Given the description of an element on the screen output the (x, y) to click on. 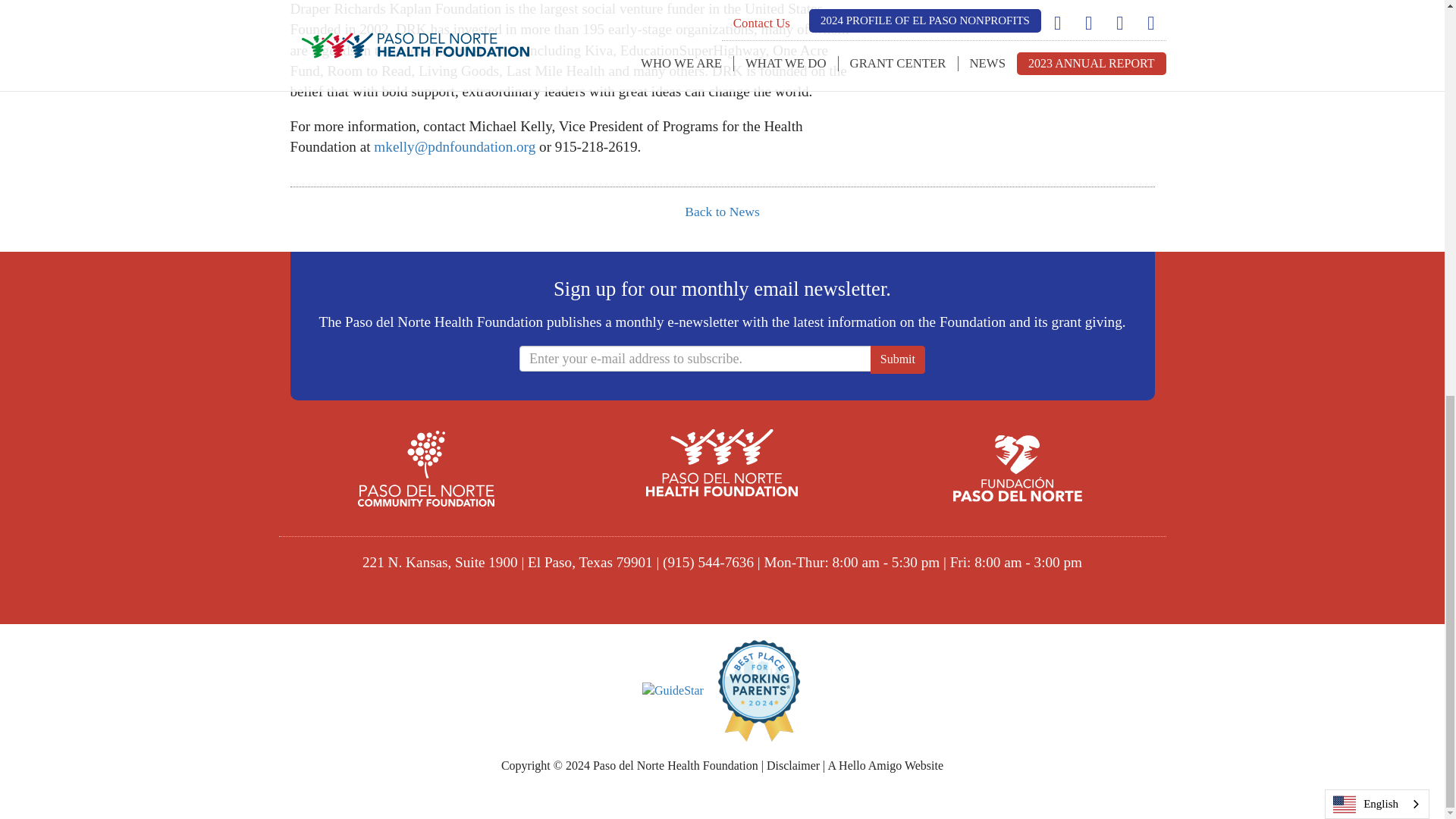
translation missing: en.submit (897, 358)
